Given the description of an element on the screen output the (x, y) to click on. 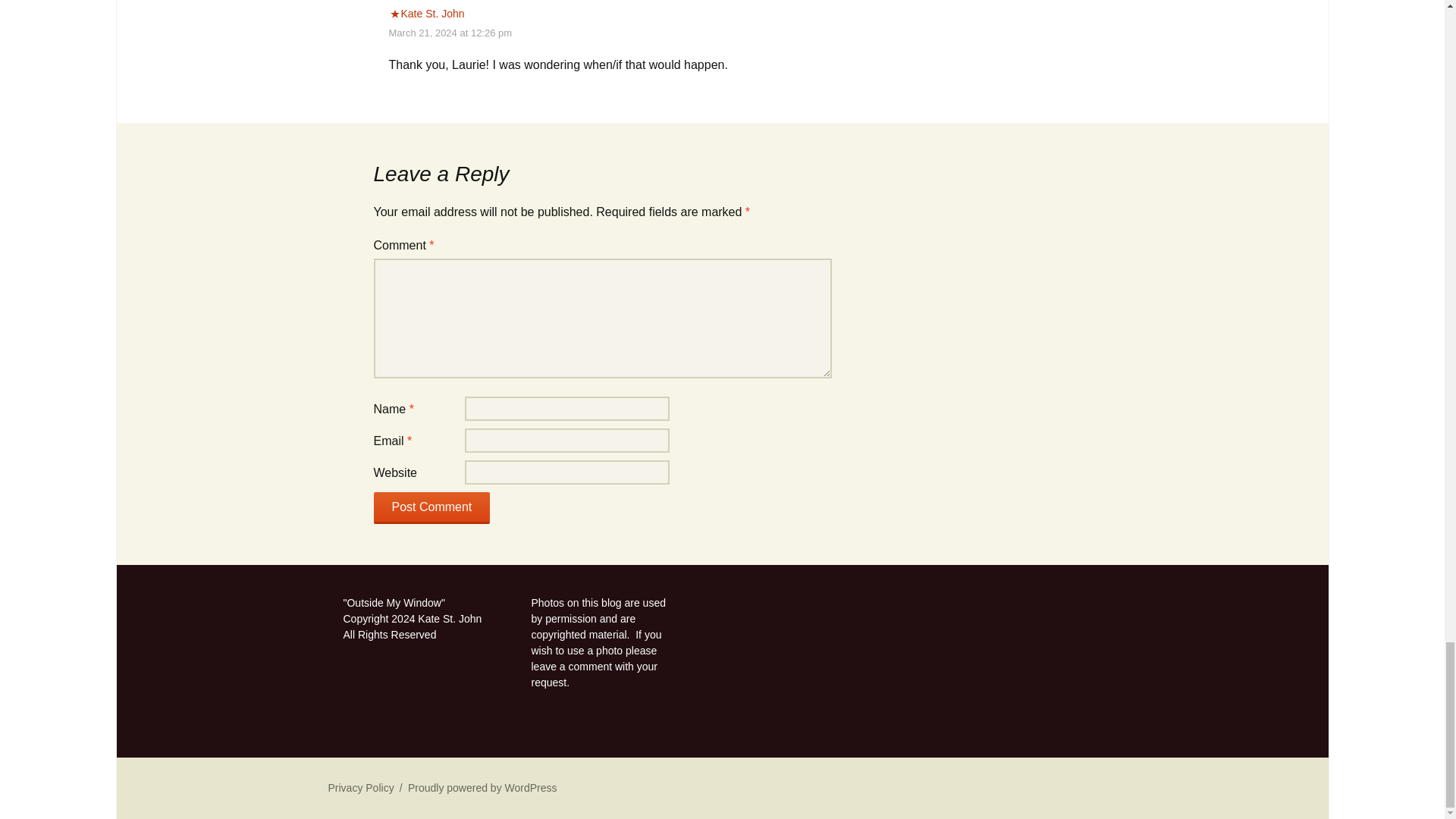
Post Comment (430, 508)
Post Comment (430, 508)
March 21, 2024 at 12:26 pm (450, 32)
